Given the description of an element on the screen output the (x, y) to click on. 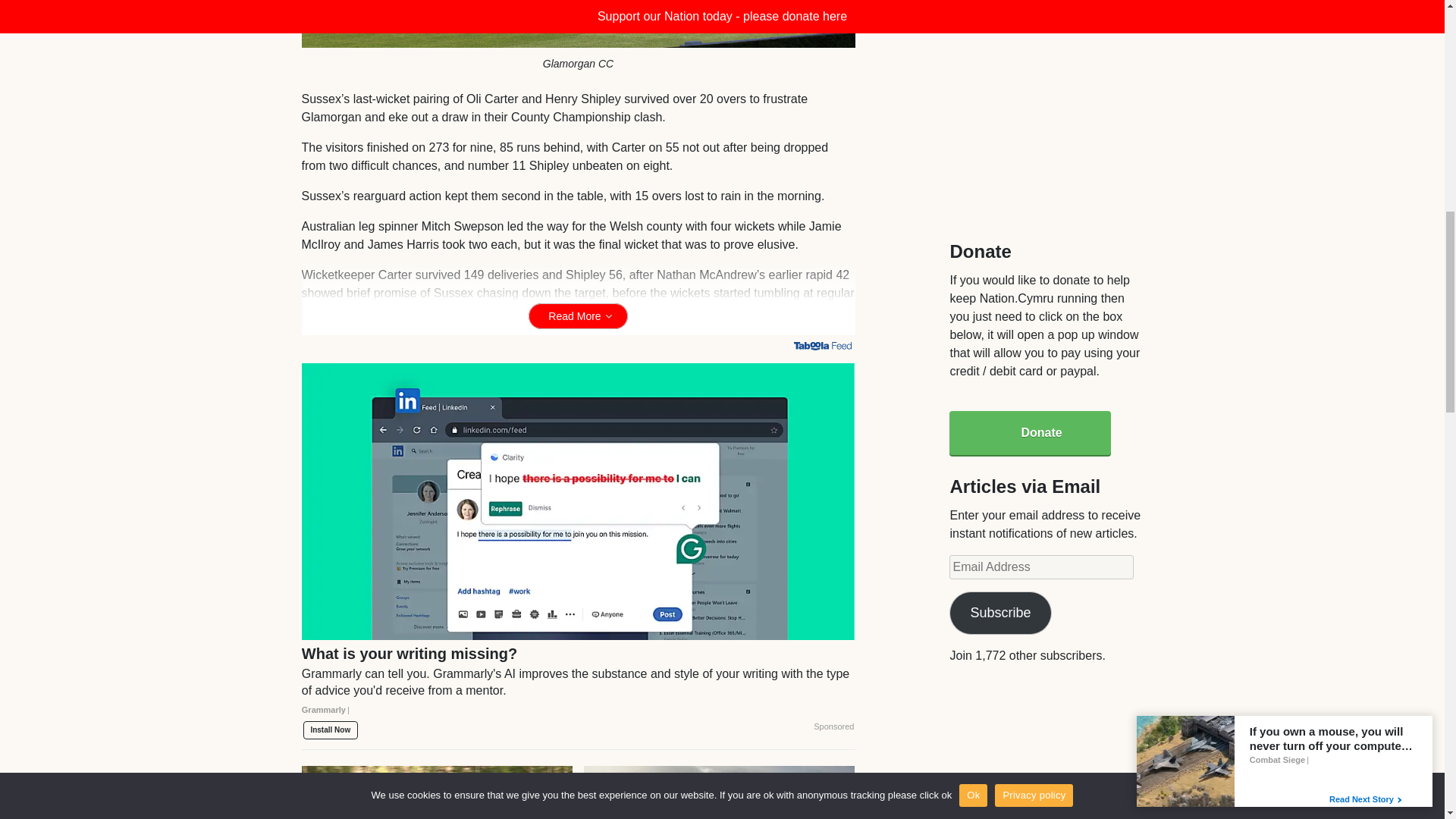
Read More (577, 316)
Install Now (330, 730)
What is your writing missing? (578, 687)
Sponsored (833, 727)
